Given the description of an element on the screen output the (x, y) to click on. 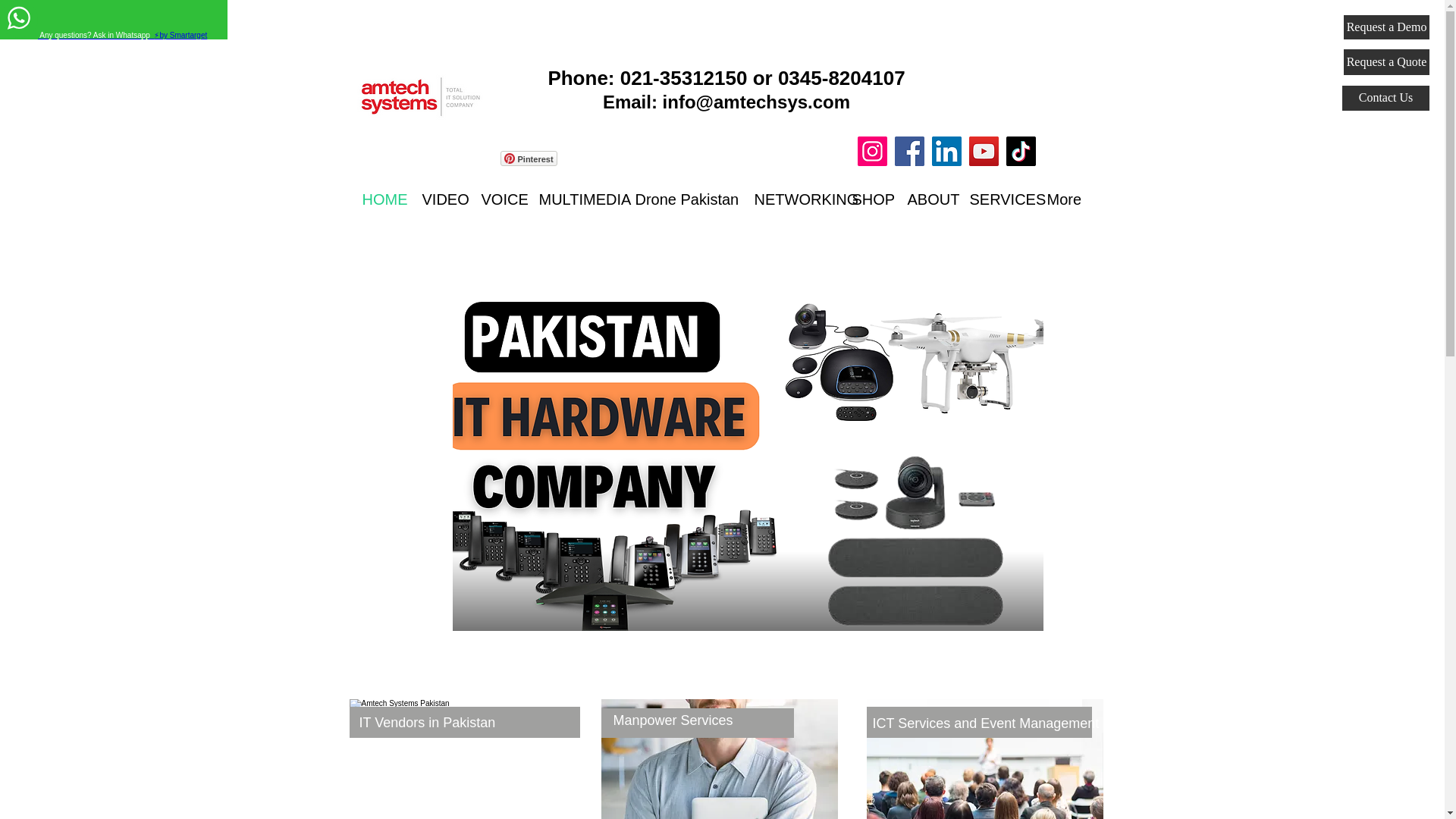
HOME (380, 199)
Request a Demo (1386, 27)
Contact Us (1385, 97)
Pinterest (528, 158)
facebook meta code (713, 126)
download.png (421, 97)
Request a Quote (1386, 62)
Google Tag (975, 747)
Embedded Content (717, 689)
Facebook Like (734, 165)
VIDEO (440, 199)
Twitter Follow (599, 158)
